Given the description of an element on the screen output the (x, y) to click on. 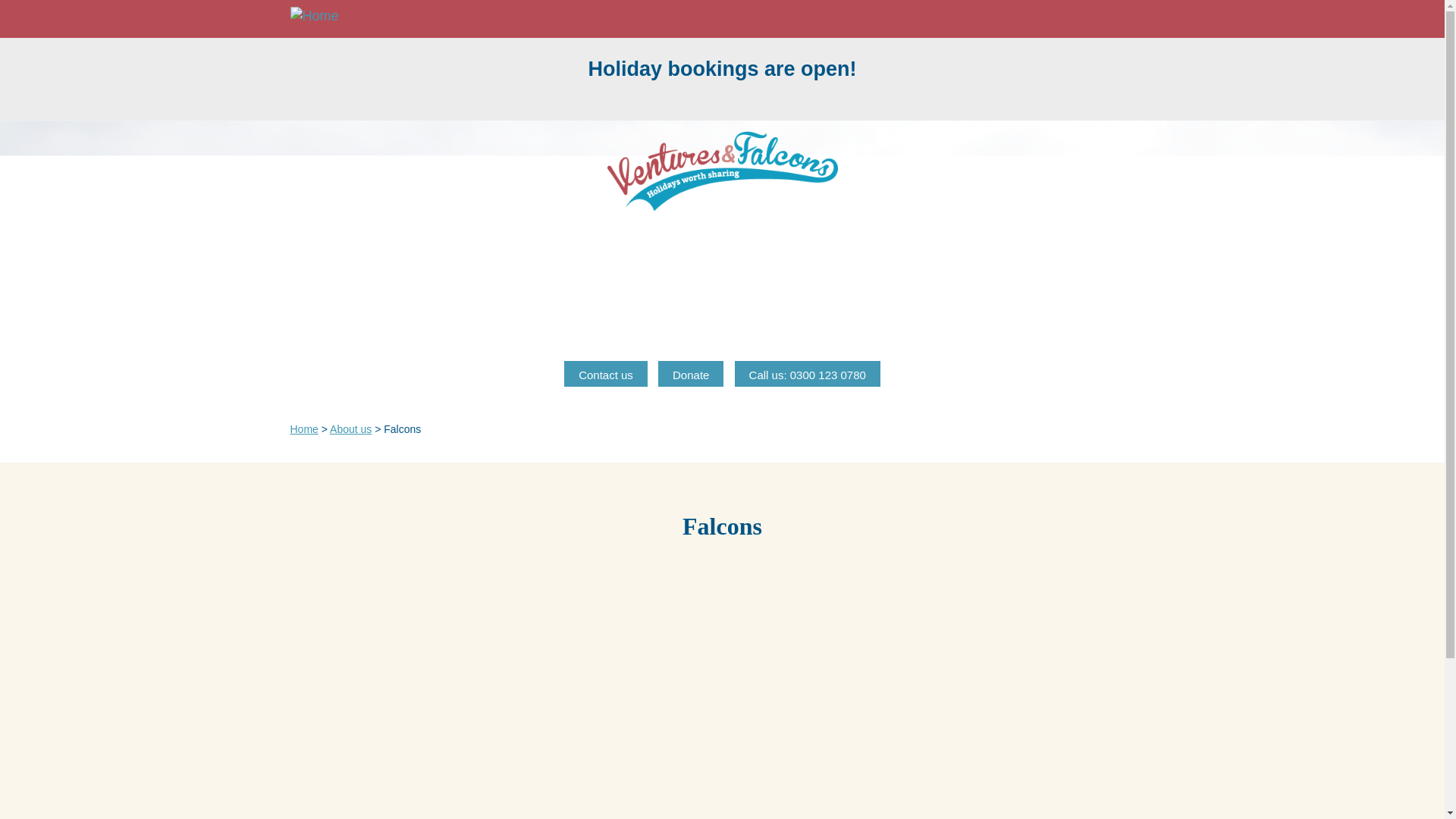
Home (303, 428)
Donate (690, 373)
Home (317, 16)
Call us: 0300 123 0780 (807, 373)
Contact us (605, 373)
About us (350, 428)
